Given the description of an element on the screen output the (x, y) to click on. 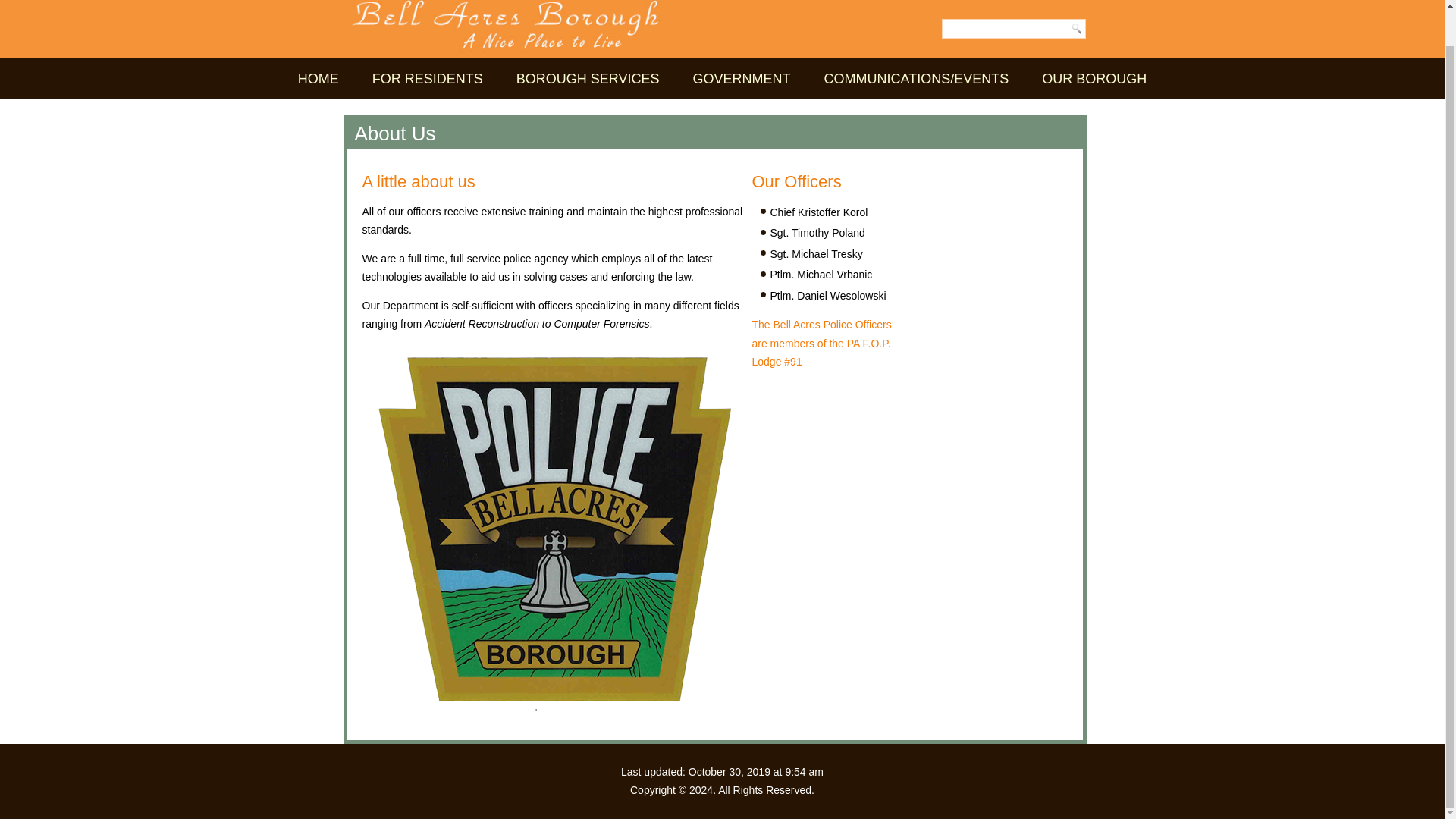
BOROUGH SERVICES (587, 78)
OUR BOROUGH (1093, 78)
HOME (318, 78)
Our Borough (1093, 78)
GOVERNMENT (741, 78)
Government (741, 78)
Home (318, 78)
Borough Services (587, 78)
For Residents (427, 78)
FOR RESIDENTS (427, 78)
